Given the description of an element on the screen output the (x, y) to click on. 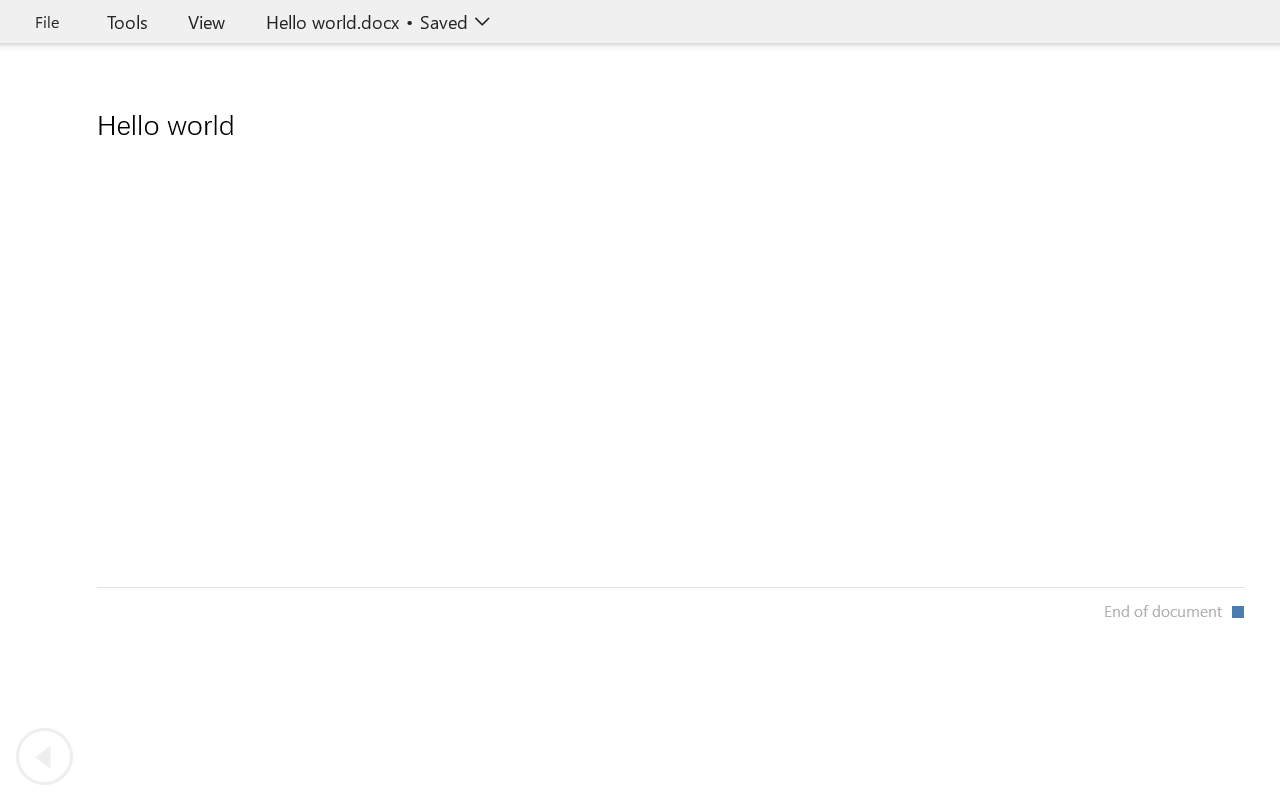
View (205, 21)
File Tab (46, 21)
Tools (127, 21)
